Given the description of an element on the screen output the (x, y) to click on. 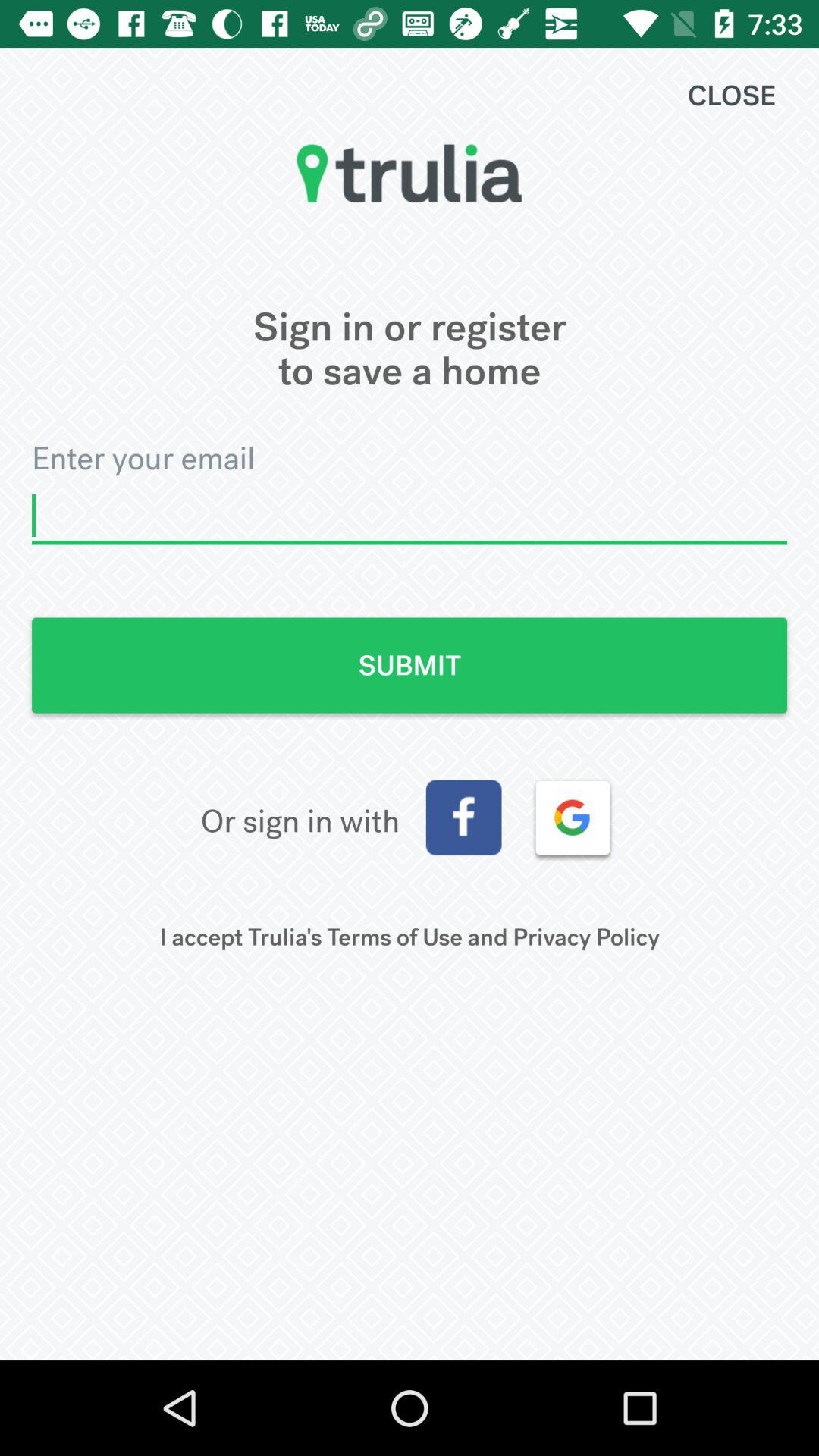
type box (409, 516)
